Given the description of an element on the screen output the (x, y) to click on. 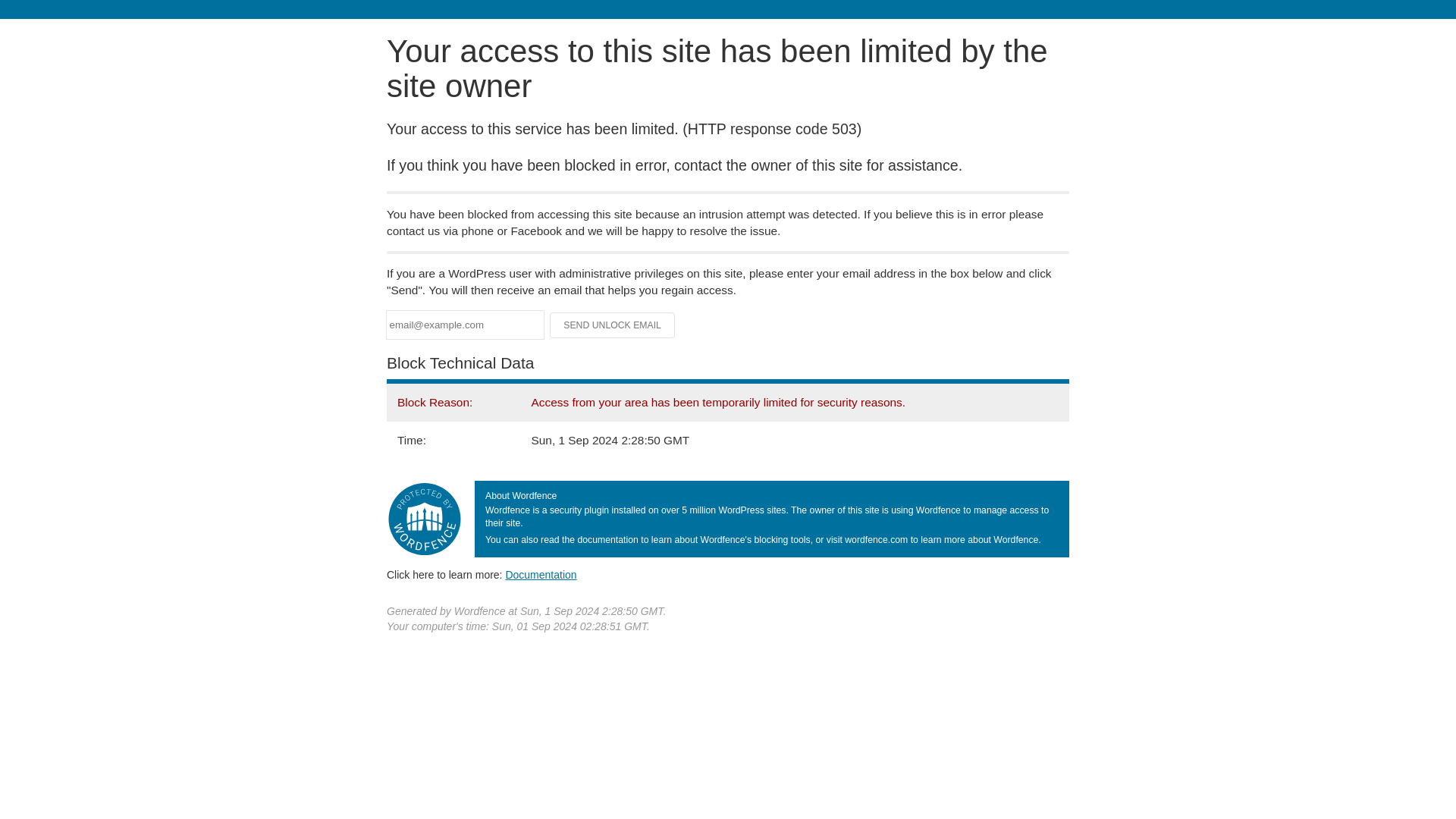
Send Unlock Email (612, 325)
Send Unlock Email (612, 325)
Documentation (540, 574)
